Given the description of an element on the screen output the (x, y) to click on. 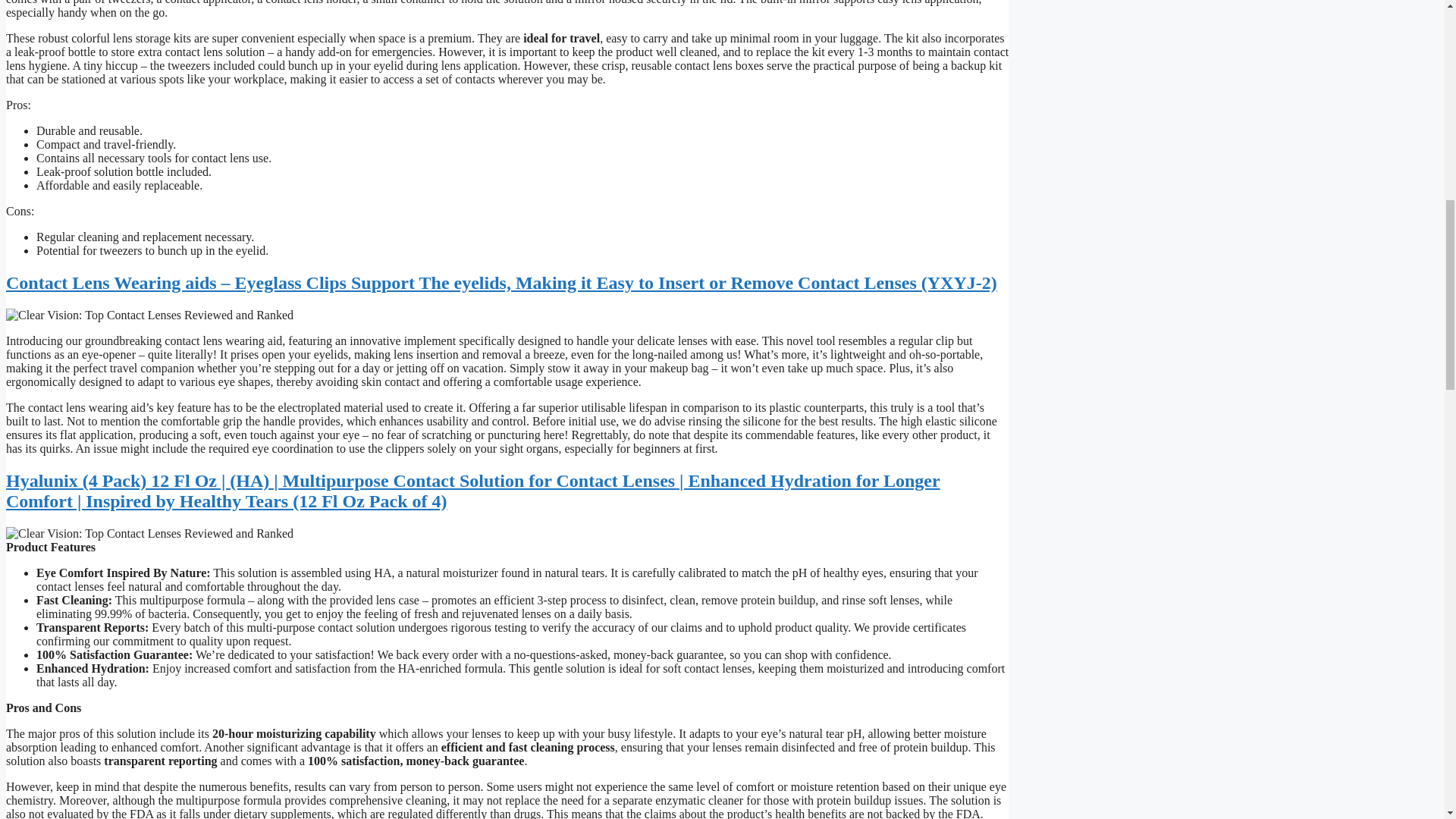
Scroll back to top (1406, 720)
